Given the description of an element on the screen output the (x, y) to click on. 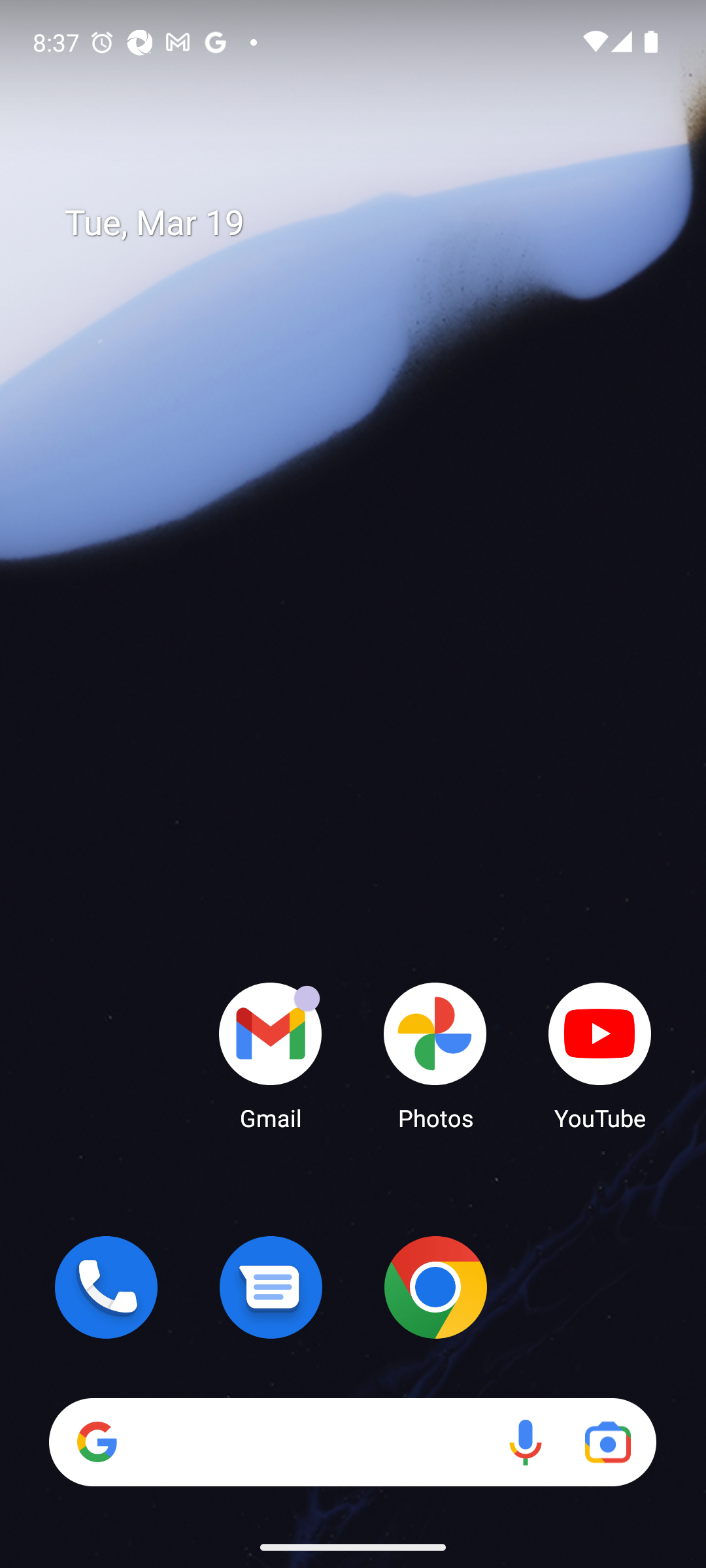
Tue, Mar 19 (366, 223)
Gmail Gmail has 18 notifications (270, 1054)
Photos (435, 1054)
YouTube (599, 1054)
Phone (106, 1287)
Messages (270, 1287)
Chrome (435, 1287)
Voice search (525, 1441)
Google Lens (607, 1441)
